Given the description of an element on the screen output the (x, y) to click on. 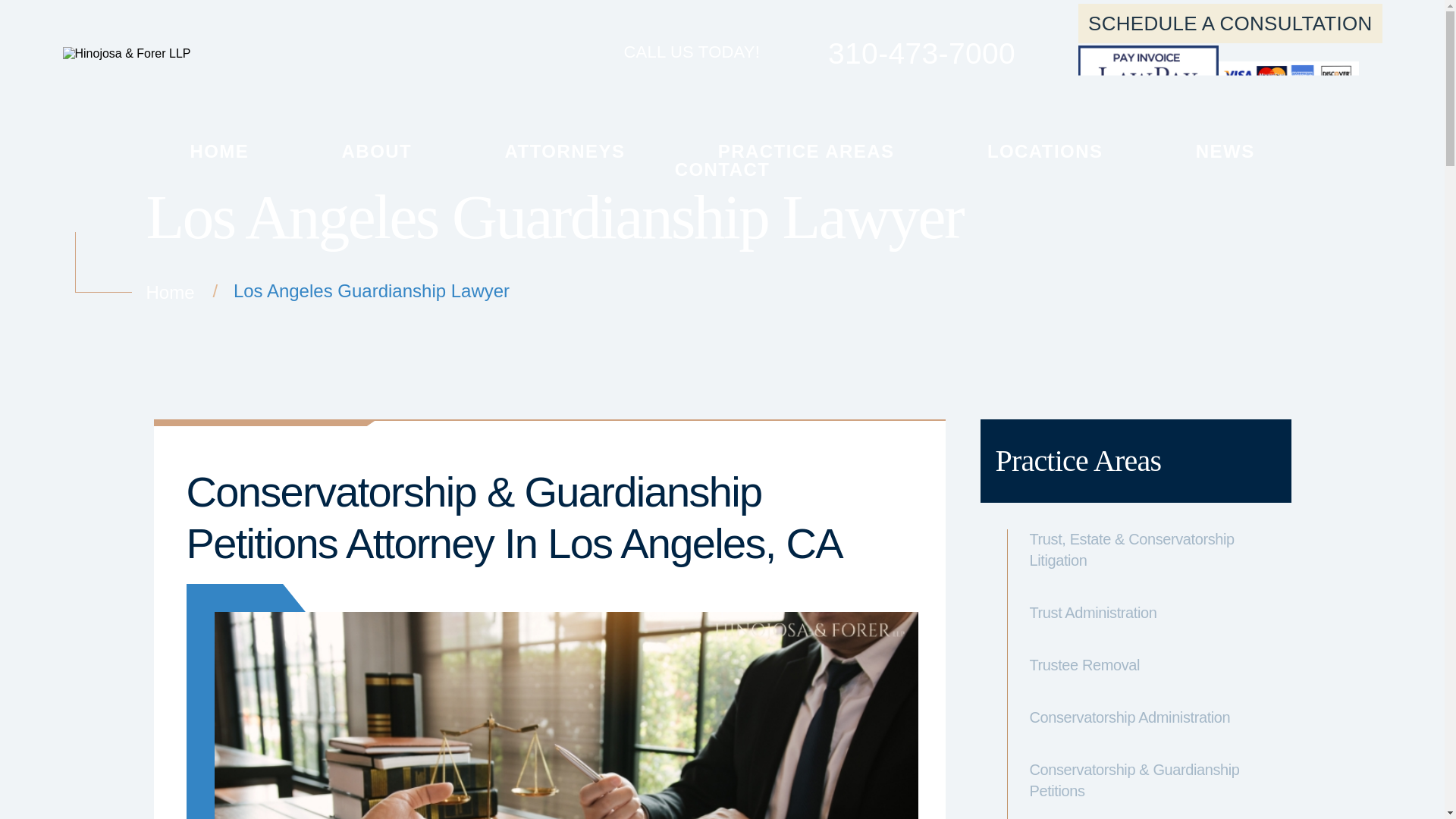
SCHEDULE A CONSULTATION (1229, 23)
310-473-7000 (887, 52)
PRACTICE AREAS (806, 150)
LOCATIONS (1045, 150)
HOME (218, 150)
ABOUT (377, 150)
ATTORNEYS (565, 150)
